Given the description of an element on the screen output the (x, y) to click on. 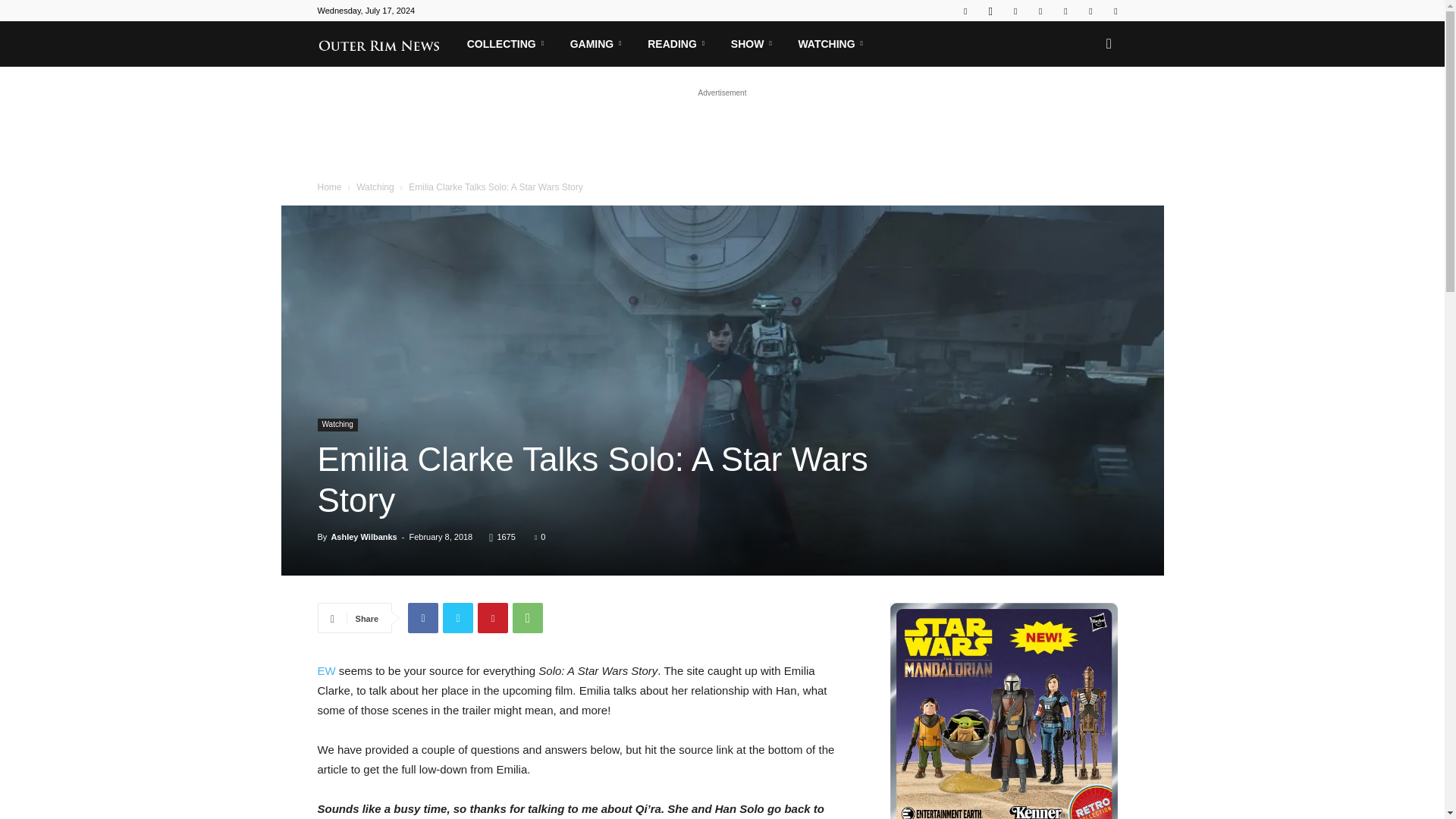
Outer Rim News (386, 43)
Instagram (989, 10)
Mail (1015, 10)
COLLECTING (508, 43)
Tumblr (1065, 10)
Facebook (964, 10)
Pinterest (1040, 10)
